Given the description of an element on the screen output the (x, y) to click on. 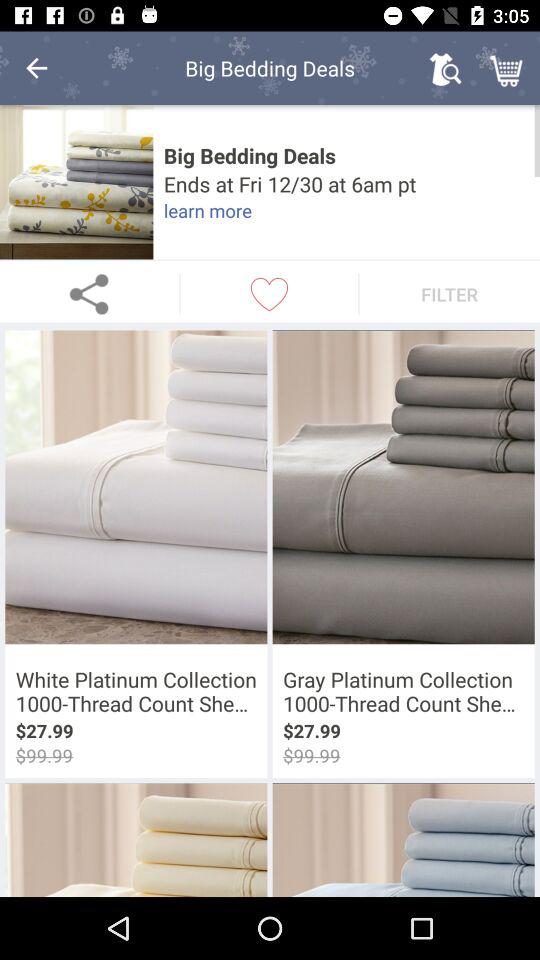
share the item (89, 294)
